Given the description of an element on the screen output the (x, y) to click on. 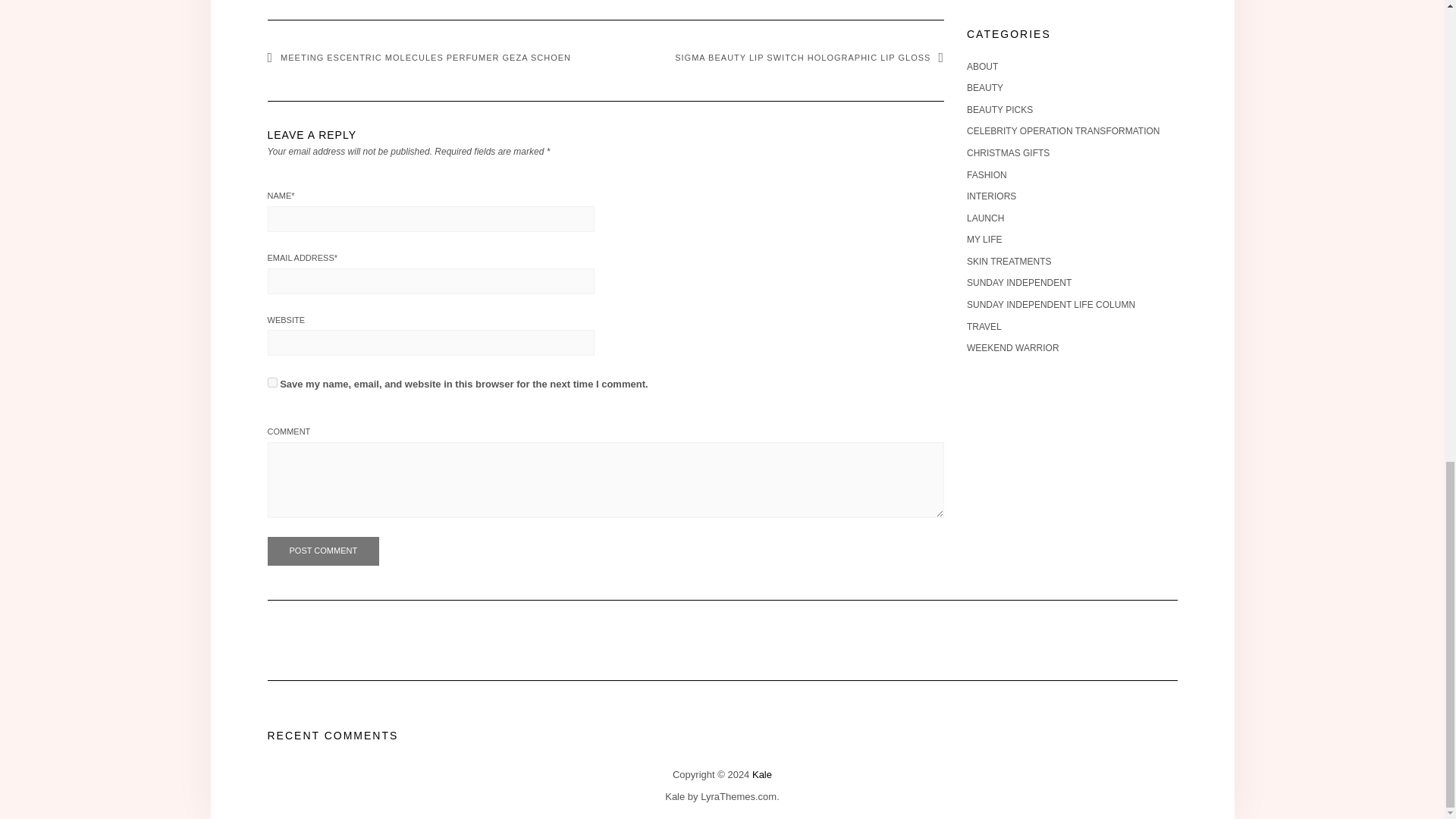
Post Comment (322, 551)
yes (271, 382)
SIGMA BEAUTY LIP SWITCH HOLOGRAPHIC LIP GLOSS (809, 57)
MEETING ESCENTRIC MOLECULES PERFUMER GEZA SCHOEN (418, 57)
Post Comment (322, 551)
